Given the description of an element on the screen output the (x, y) to click on. 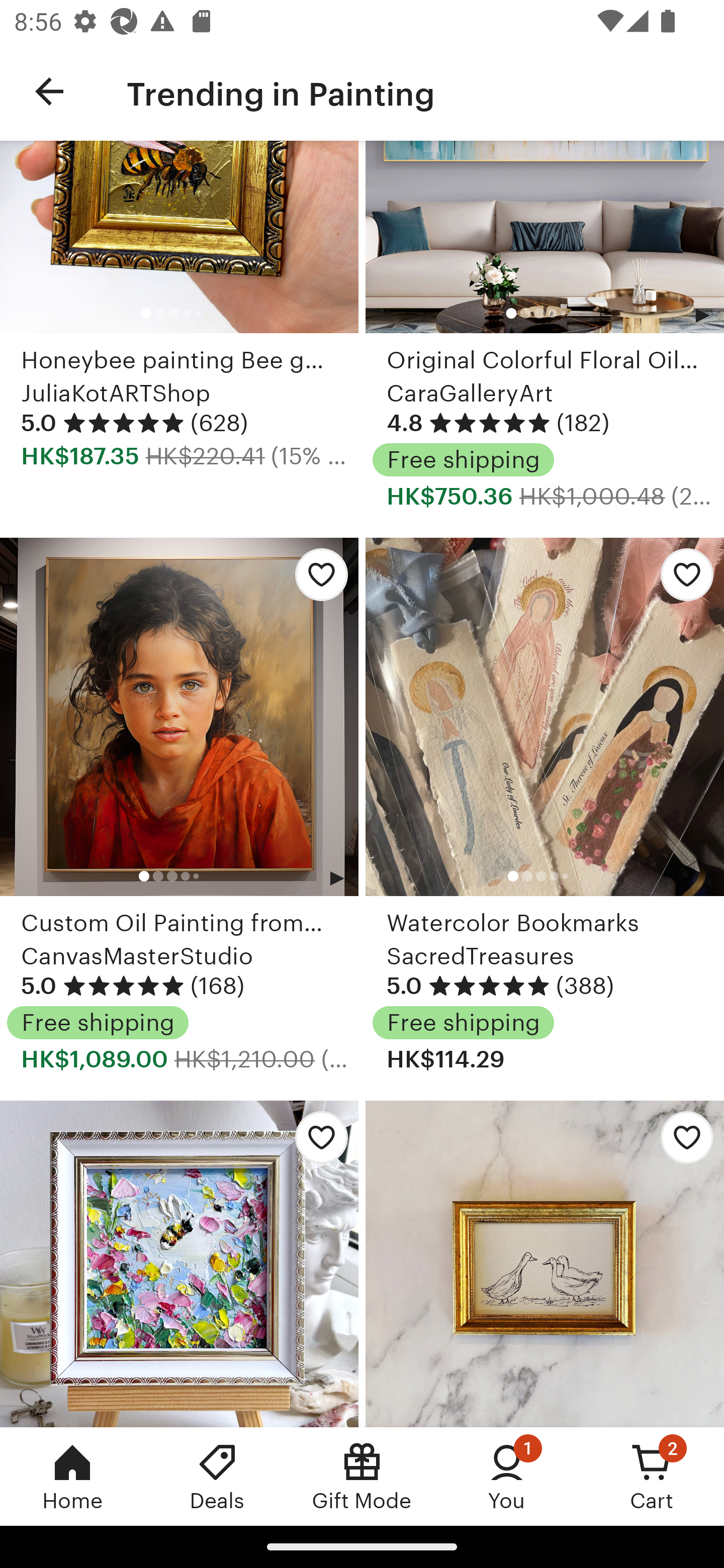
Navigate up (49, 91)
Add Watercolor Bookmarks to favorites (681, 579)
Deals (216, 1475)
Gift Mode (361, 1475)
You, 1 new notification You (506, 1475)
Cart, 2 new notifications Cart (651, 1475)
